Given the description of an element on the screen output the (x, y) to click on. 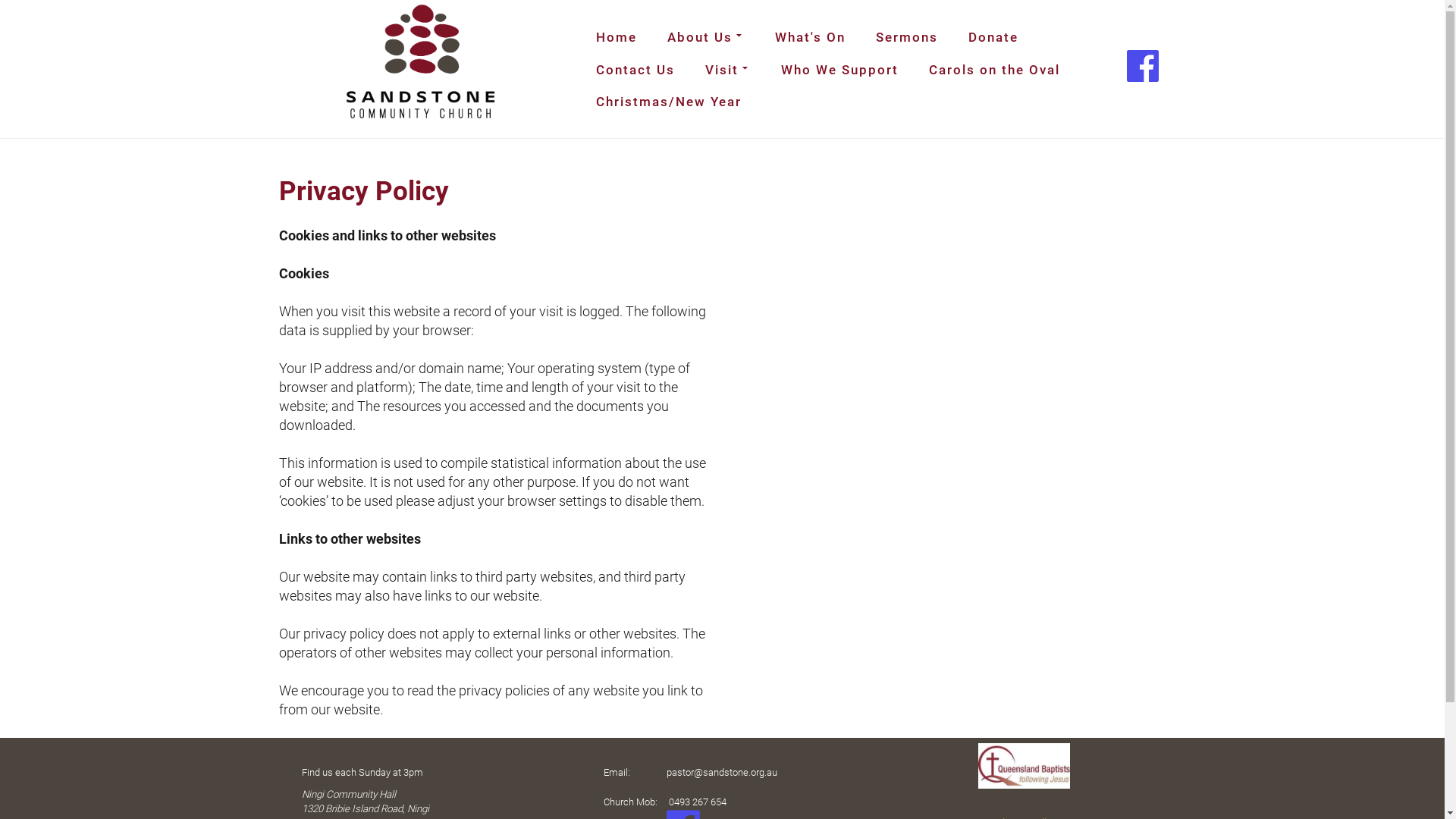
Donate Element type: text (993, 37)
Contact Us Element type: text (635, 69)
Home Element type: text (616, 37)
0493 267 654 Element type: text (697, 801)
Who We Support Element type: text (839, 69)
Christmas/New Year Element type: text (668, 101)
What's On Element type: text (809, 37)
pastor@sandstone.org.au Element type: text (721, 772)
Carols on the Oval Element type: text (994, 69)
Find us each Sunday at 3pm Element type: text (362, 770)
Ningi Community Ha Element type: text (346, 793)
Sermons Element type: text (906, 37)
